Given the description of an element on the screen output the (x, y) to click on. 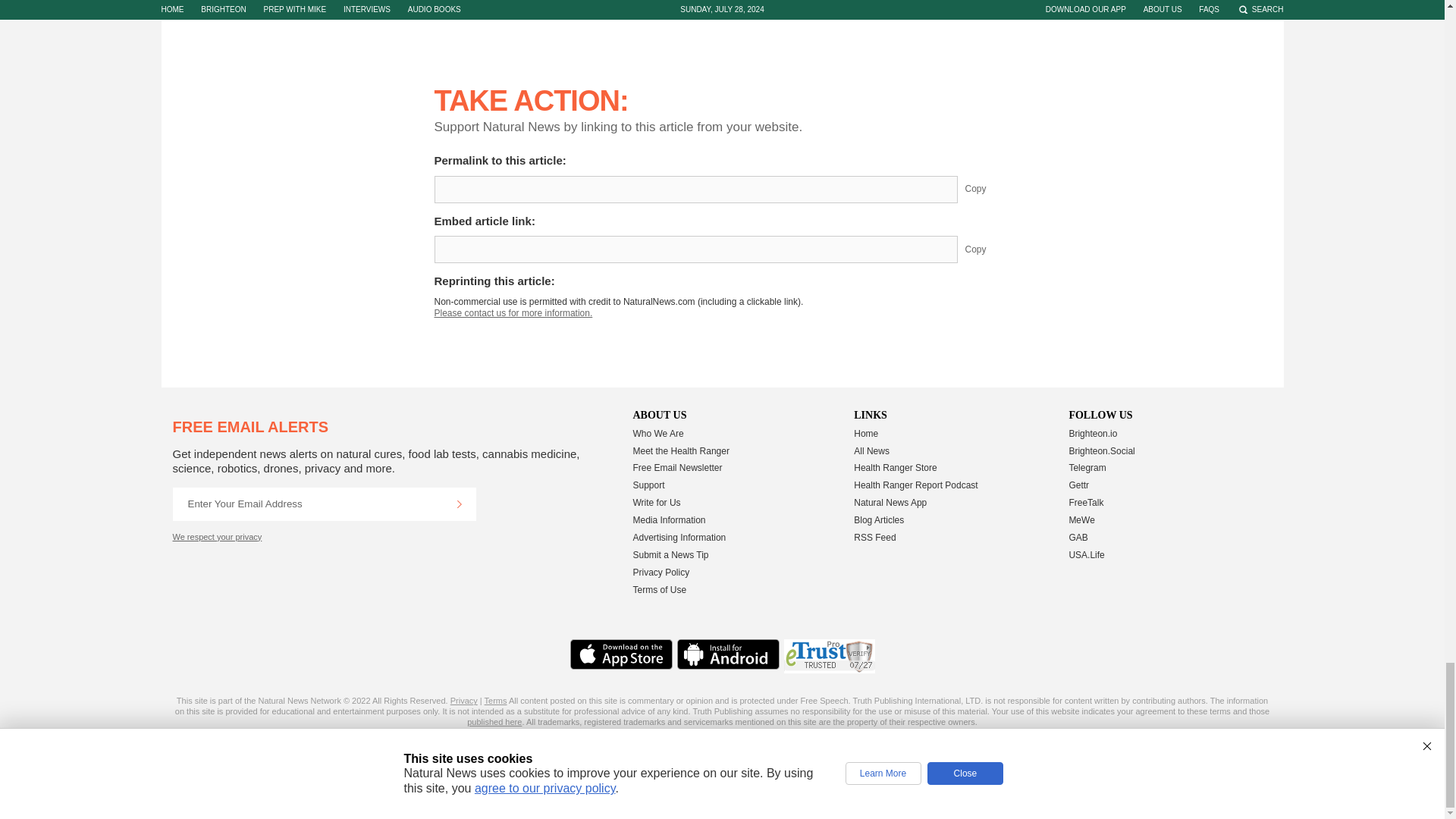
eTrust Pro Certified (829, 656)
Continue (459, 503)
Copy Embed Link (986, 248)
Copy Permalink (986, 189)
